Given the description of an element on the screen output the (x, y) to click on. 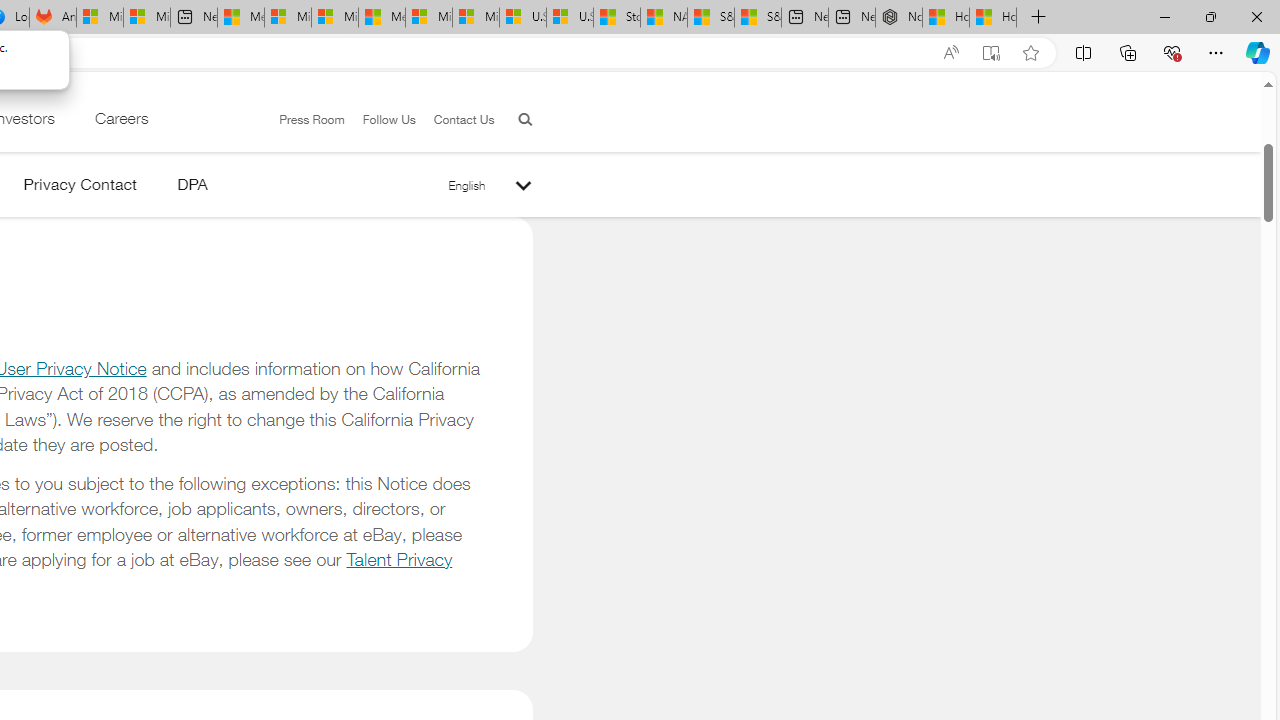
Enter Immersive Reader (F9) (991, 53)
